Given the description of an element on the screen output the (x, y) to click on. 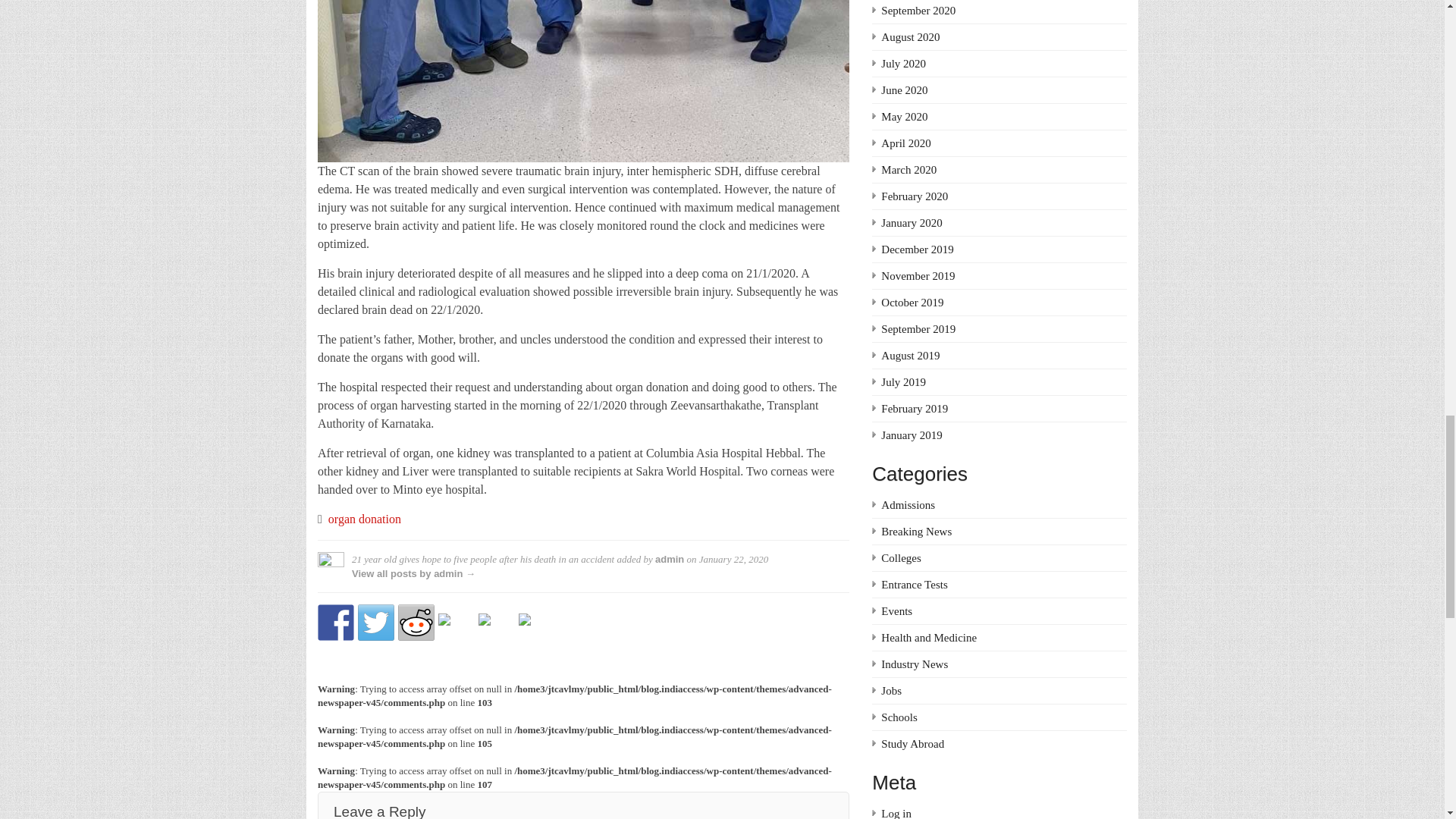
Pin it with Pinterest (456, 631)
organ donation (365, 518)
Share on Twitter (376, 622)
Share on Facebook (335, 622)
admin (669, 559)
Share on Reddit (415, 622)
